Given the description of an element on the screen output the (x, y) to click on. 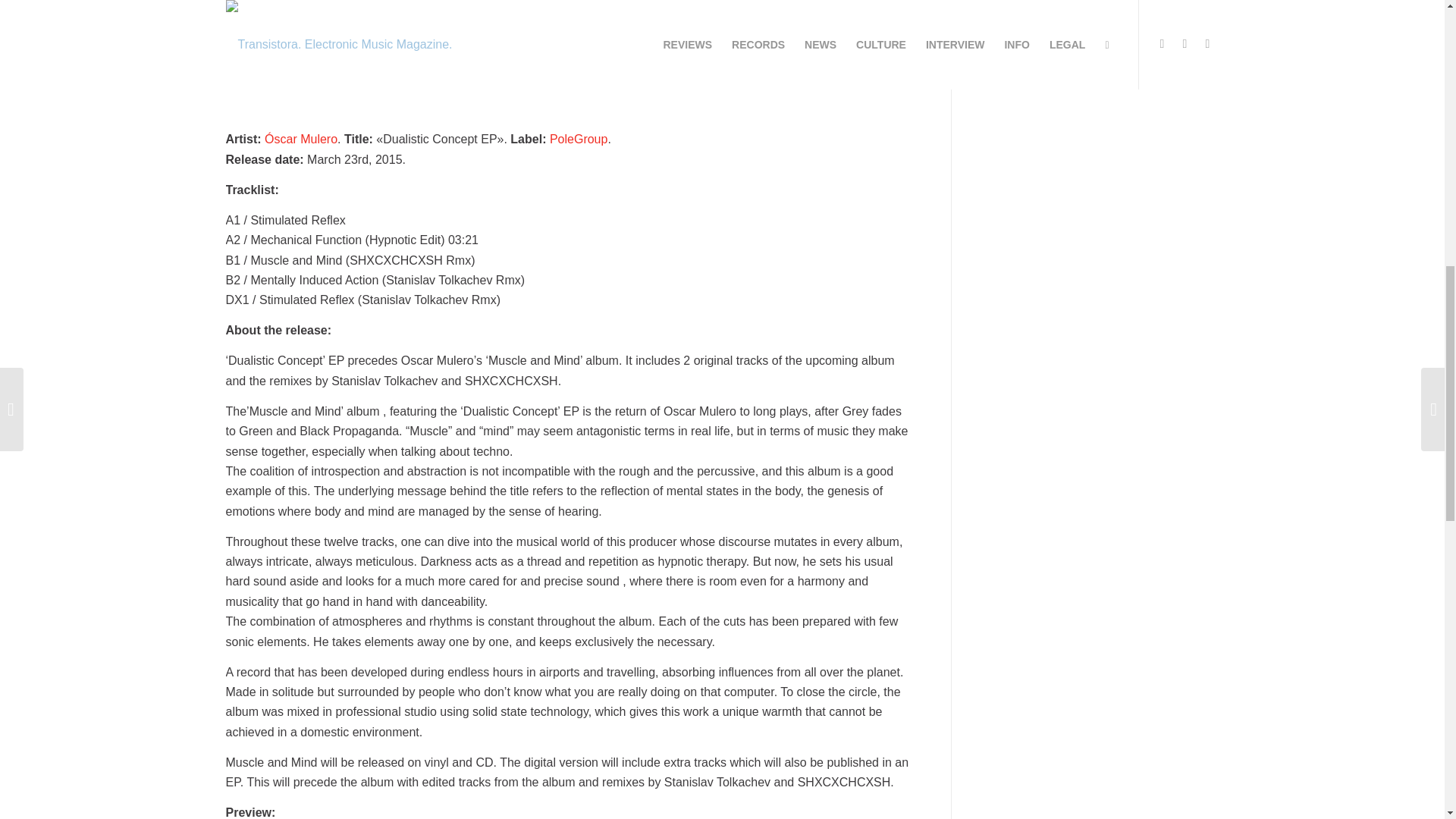
oscar-mulero-dualistic-concept-ep-transistora (568, 56)
PoleGroup (579, 138)
